Given the description of an element on the screen output the (x, y) to click on. 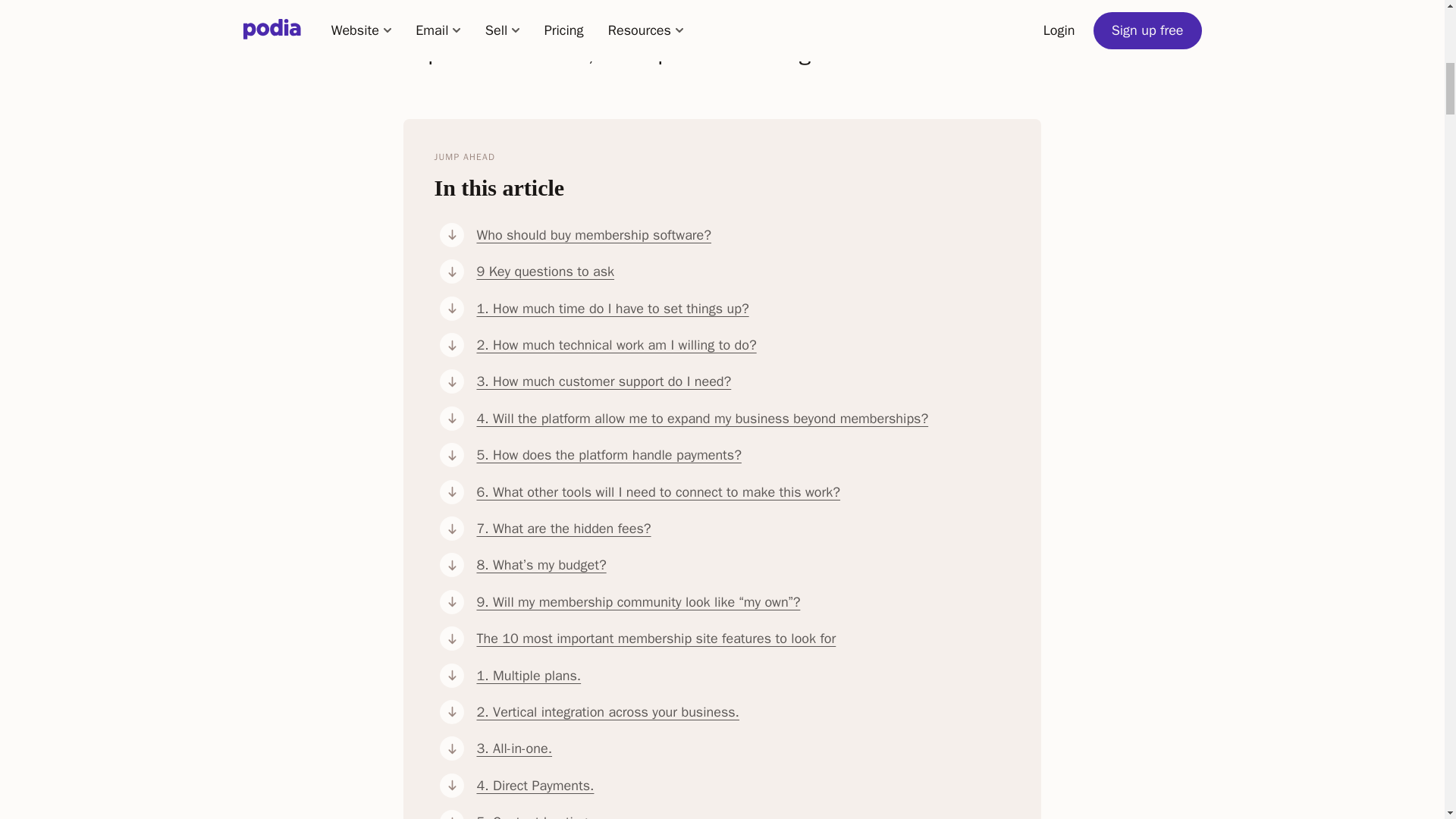
3. How much customer support do I need? (743, 381)
5. How does the platform handle payments? (743, 454)
4. Direct Payments. (743, 785)
2. Vertical integration across your business. (743, 711)
1. Multiple plans. (743, 675)
3. All-in-one. (743, 748)
9 Key questions to ask (743, 271)
2. How much technical work am I willing to do? (743, 344)
5. Content hosting. (743, 814)
Who should buy membership software? (743, 234)
1. How much time do I have to set things up? (743, 308)
7. What are the hidden fees? (743, 528)
The 10 most important membership site features to look for (743, 638)
